Given the description of an element on the screen output the (x, y) to click on. 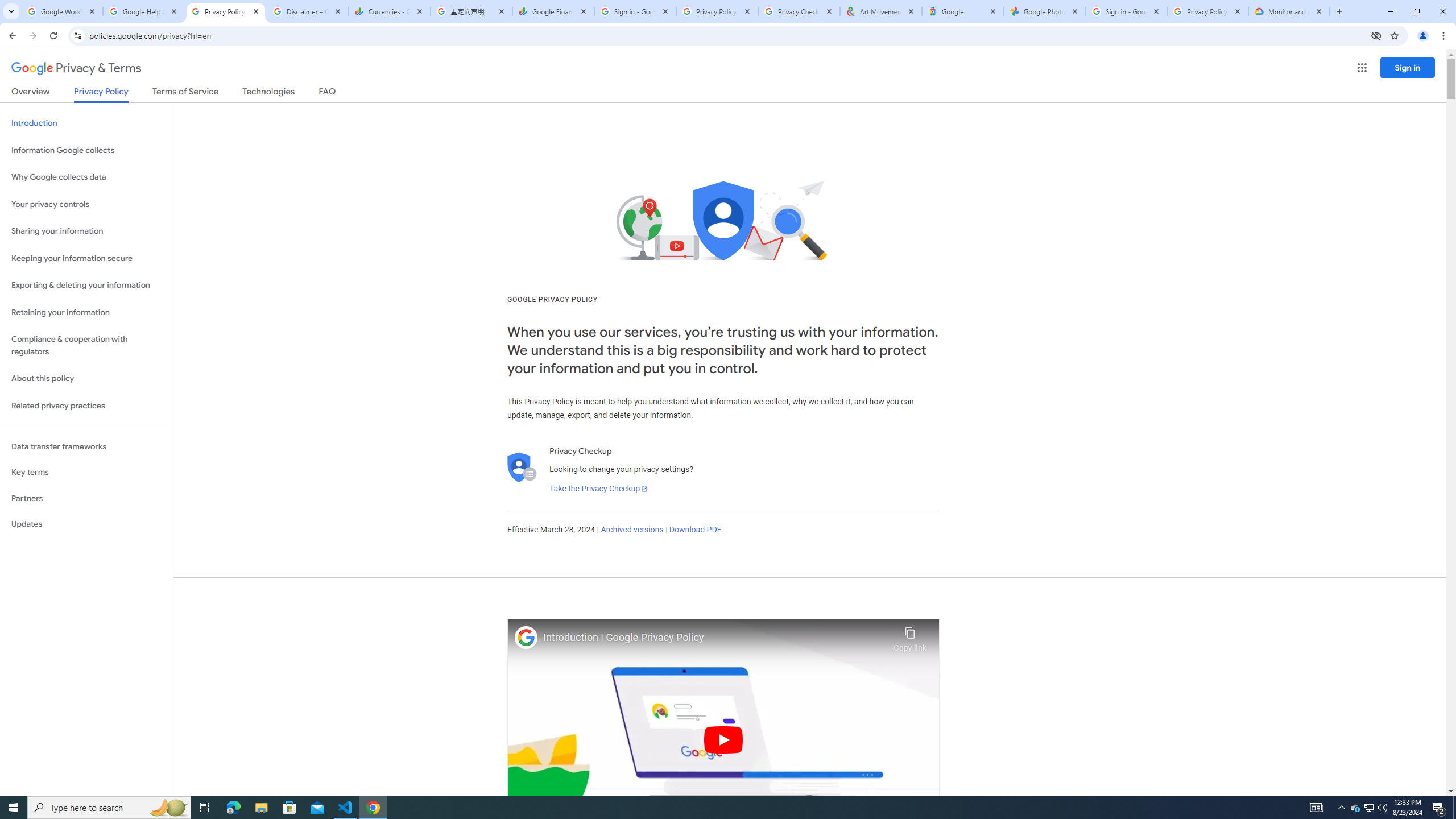
Sharing your information (86, 230)
Sign in - Google Accounts (1126, 11)
